Given the description of an element on the screen output the (x, y) to click on. 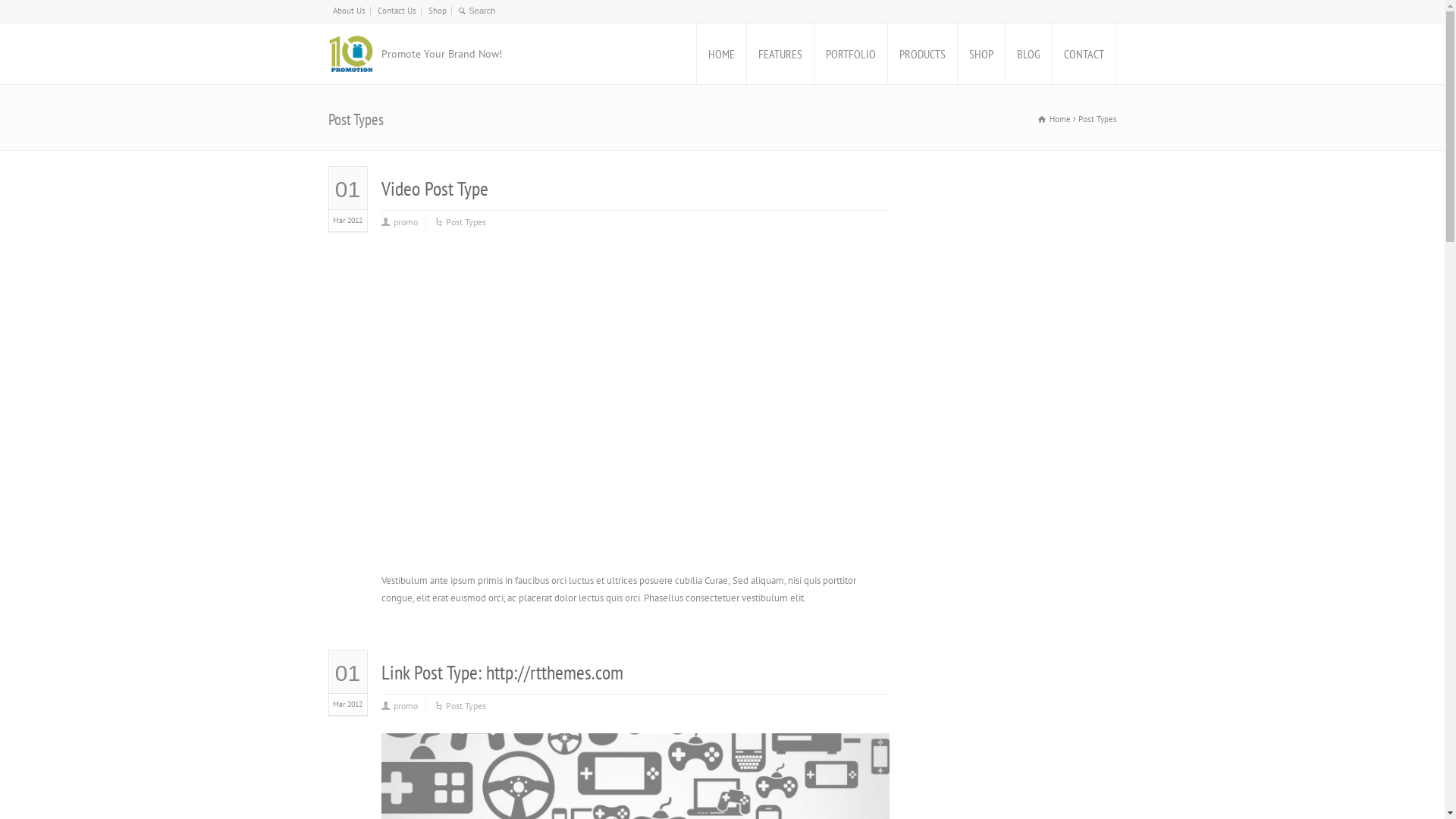
Shop Element type: text (436, 10)
Post Types Element type: text (465, 222)
PRODUCTS Element type: text (921, 53)
Promotional Products Solutions Element type: hover (350, 53)
About Us Element type: text (348, 10)
Contact Us Element type: text (396, 10)
BLOG Element type: text (1028, 53)
01
Mar 2012 Element type: text (348, 686)
promo Element type: text (404, 706)
Link Post Type: Element type: text (432, 671)
CONTACT Element type: text (1083, 53)
FEATURES Element type: text (779, 53)
Home Element type: text (1053, 118)
promo Element type: text (404, 222)
Video Post Type Element type: text (433, 187)
01
Mar 2012 Element type: text (348, 202)
PORTFOLIO Element type: text (850, 53)
SHOP Element type: text (980, 53)
Post Types Element type: text (465, 706)
HOME Element type: text (720, 53)
http://rtthemes.com Element type: text (553, 671)
